Given the description of an element on the screen output the (x, y) to click on. 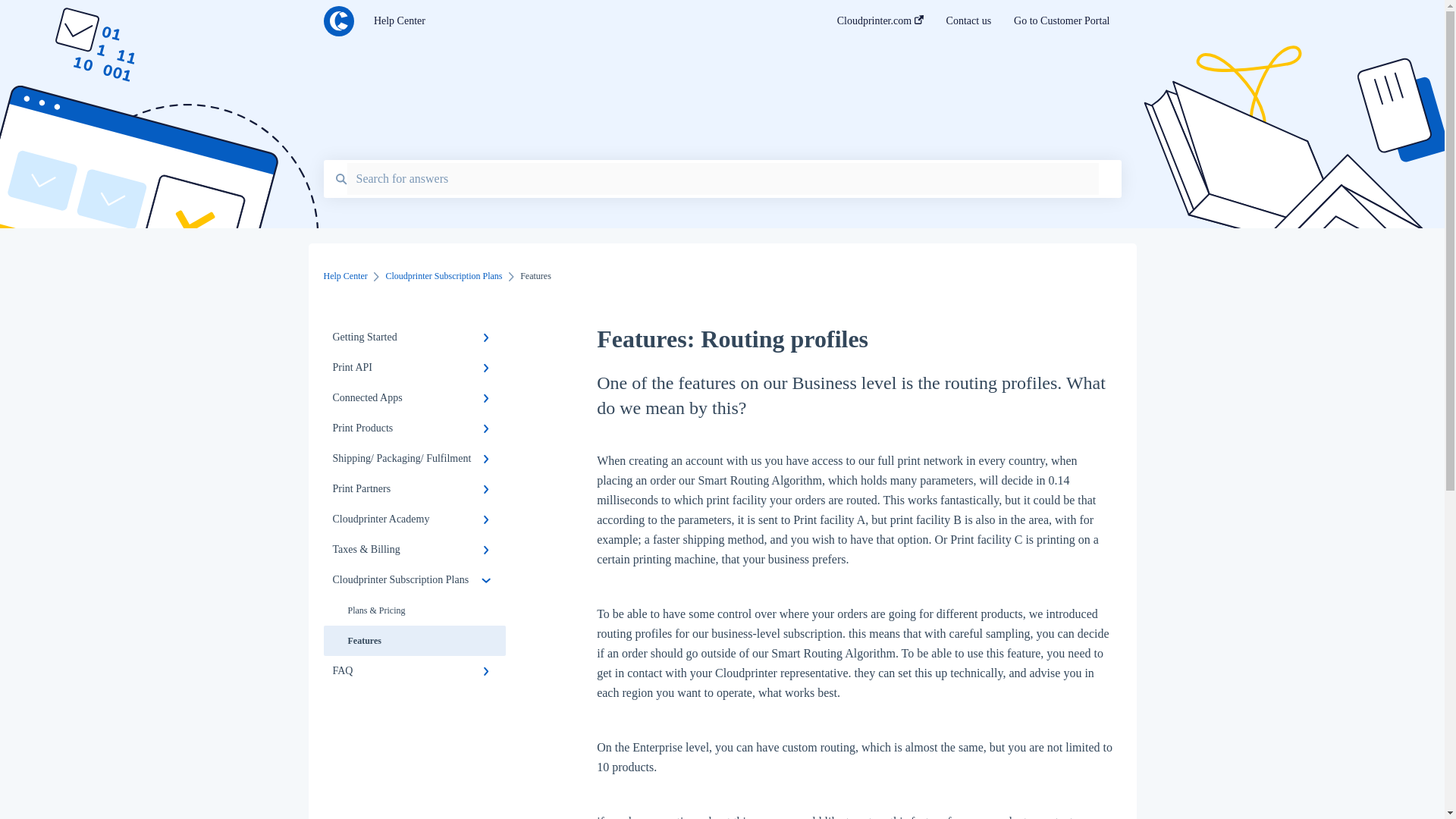
Contact us (968, 25)
Help Center (583, 21)
Go to Customer Portal (1061, 25)
Cloudprinter.com (880, 25)
